Given the description of an element on the screen output the (x, y) to click on. 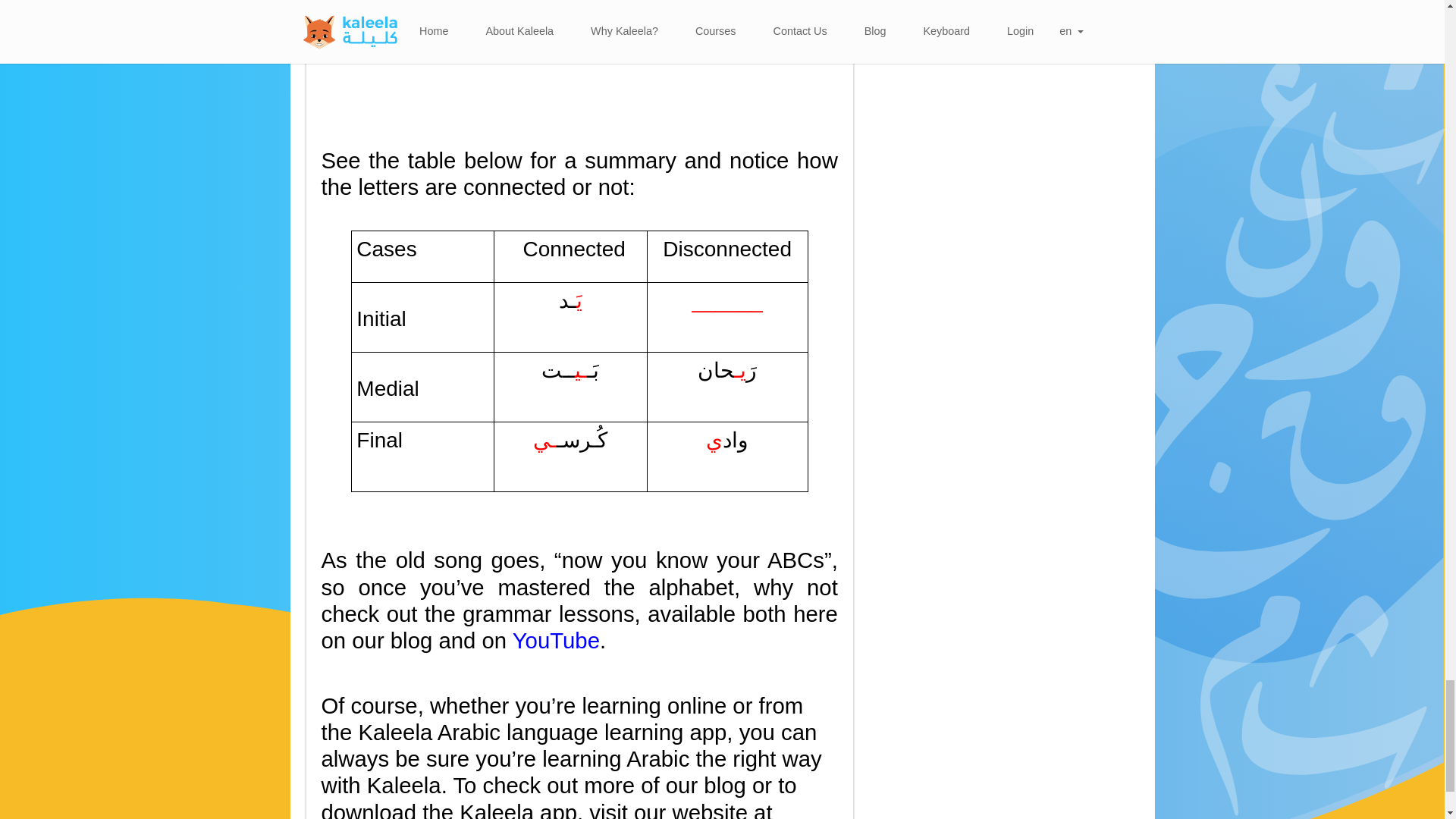
YouTube (555, 640)
